Given the description of an element on the screen output the (x, y) to click on. 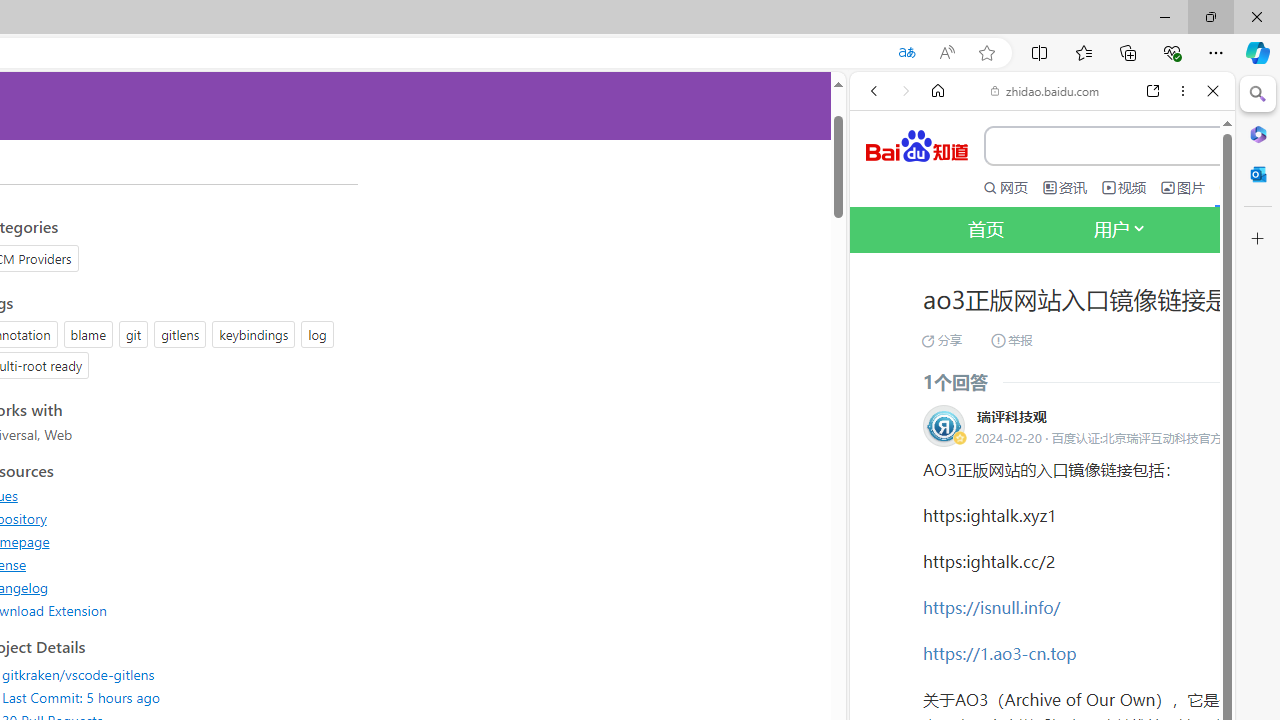
Learn more (943, 272)
Close (1213, 91)
SEARCH TOOLS (1093, 339)
Search Filter, VIDEOS (1006, 339)
Collections (1128, 52)
Global web icon (888, 698)
https://1.ao3-cn.top (999, 652)
Outlook (1258, 174)
Minimize (1164, 16)
OF | English meaning - Cambridge Dictionary (1034, 419)
